Given the description of an element on the screen output the (x, y) to click on. 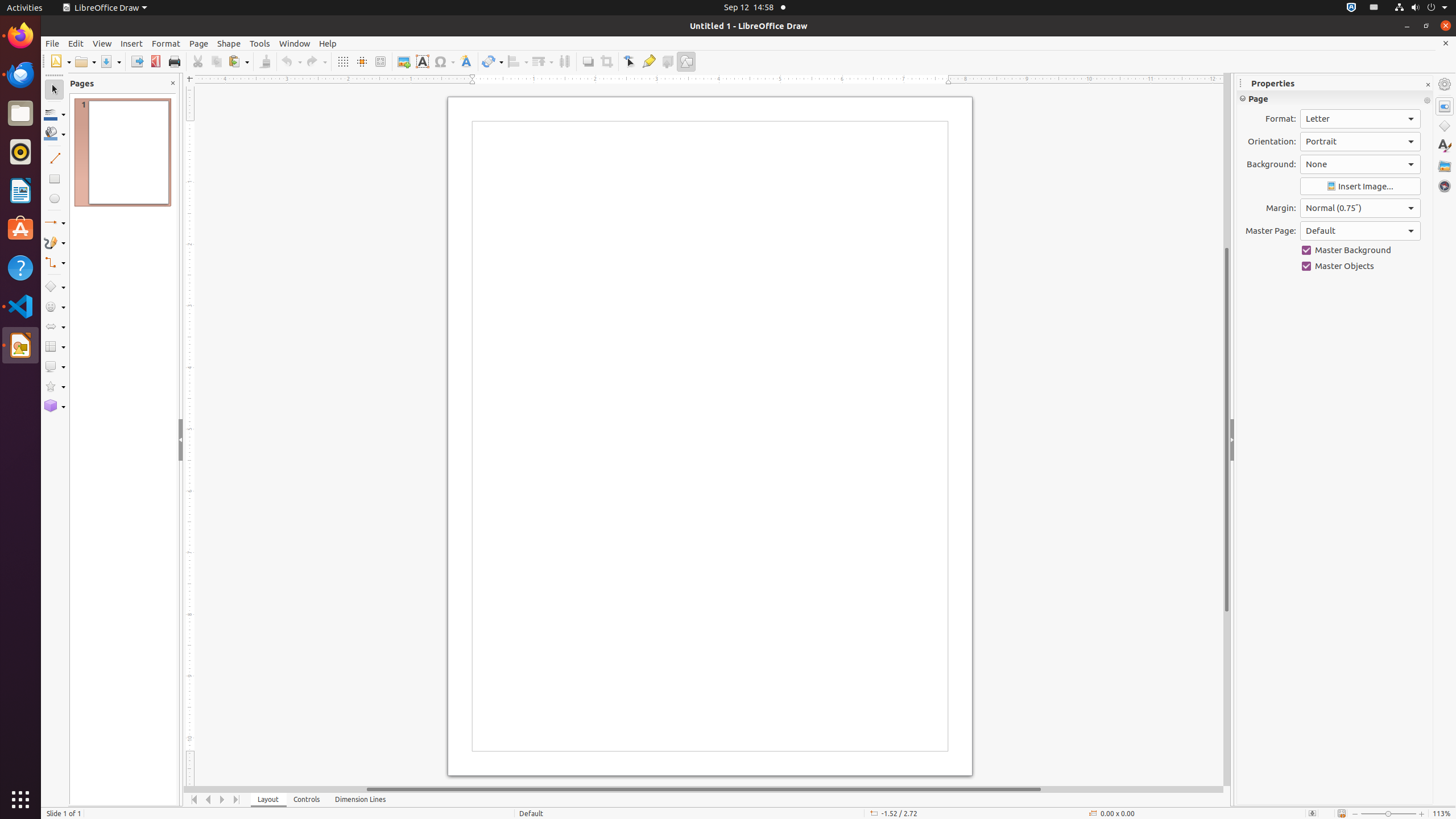
Edit Points Element type: push-button (629, 61)
Layout Element type: page-tab (268, 799)
Ubuntu Software Element type: push-button (20, 229)
Close Sidebar Deck Element type: push-button (1427, 84)
Page Element type: menu (198, 43)
